Given the description of an element on the screen output the (x, y) to click on. 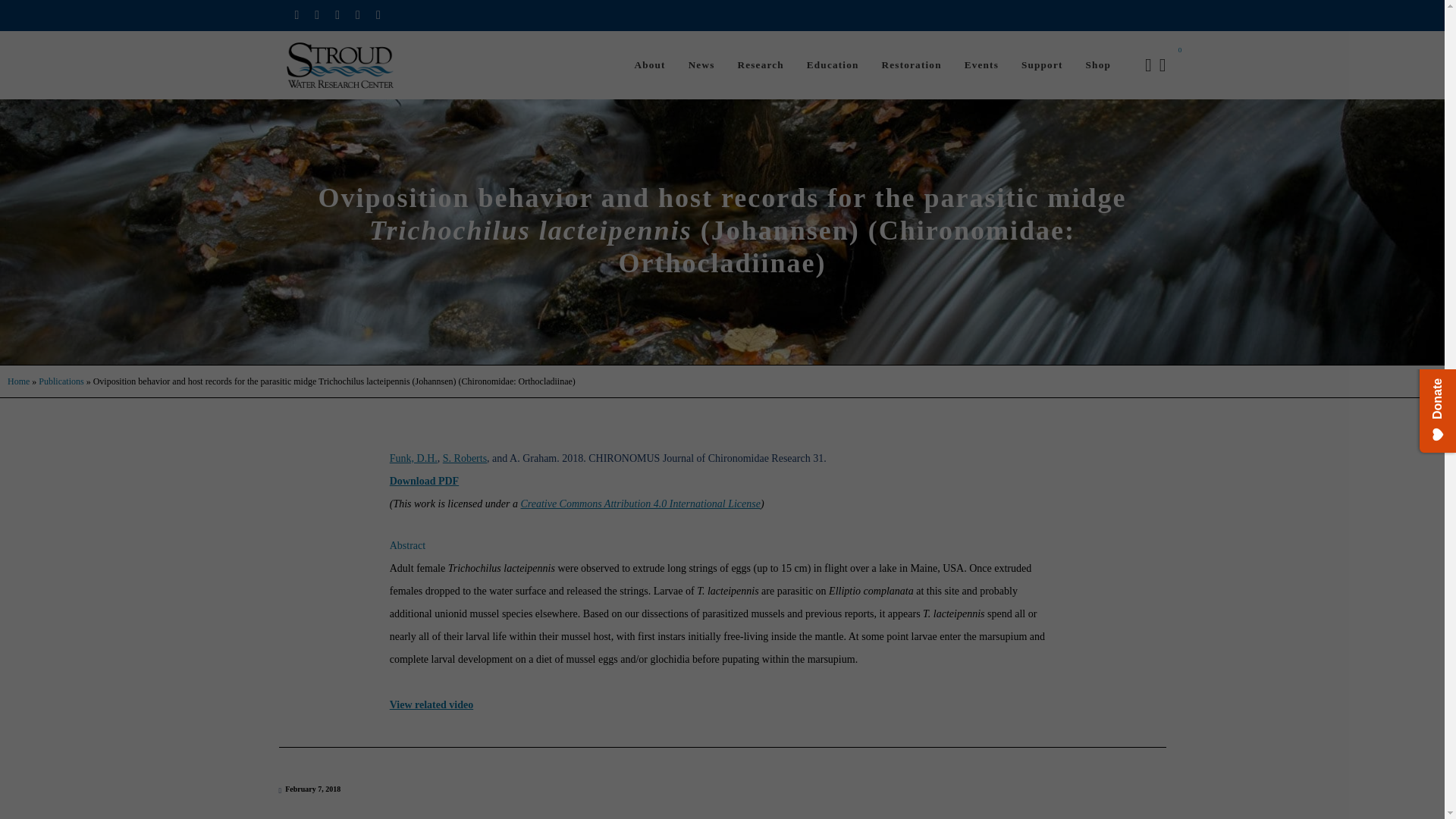
S. Roberts (464, 458)
Stroud Water Research Center (340, 65)
Download PDF (424, 480)
Funk, D.H. (414, 458)
Home (18, 380)
Publications (60, 380)
